Given the description of an element on the screen output the (x, y) to click on. 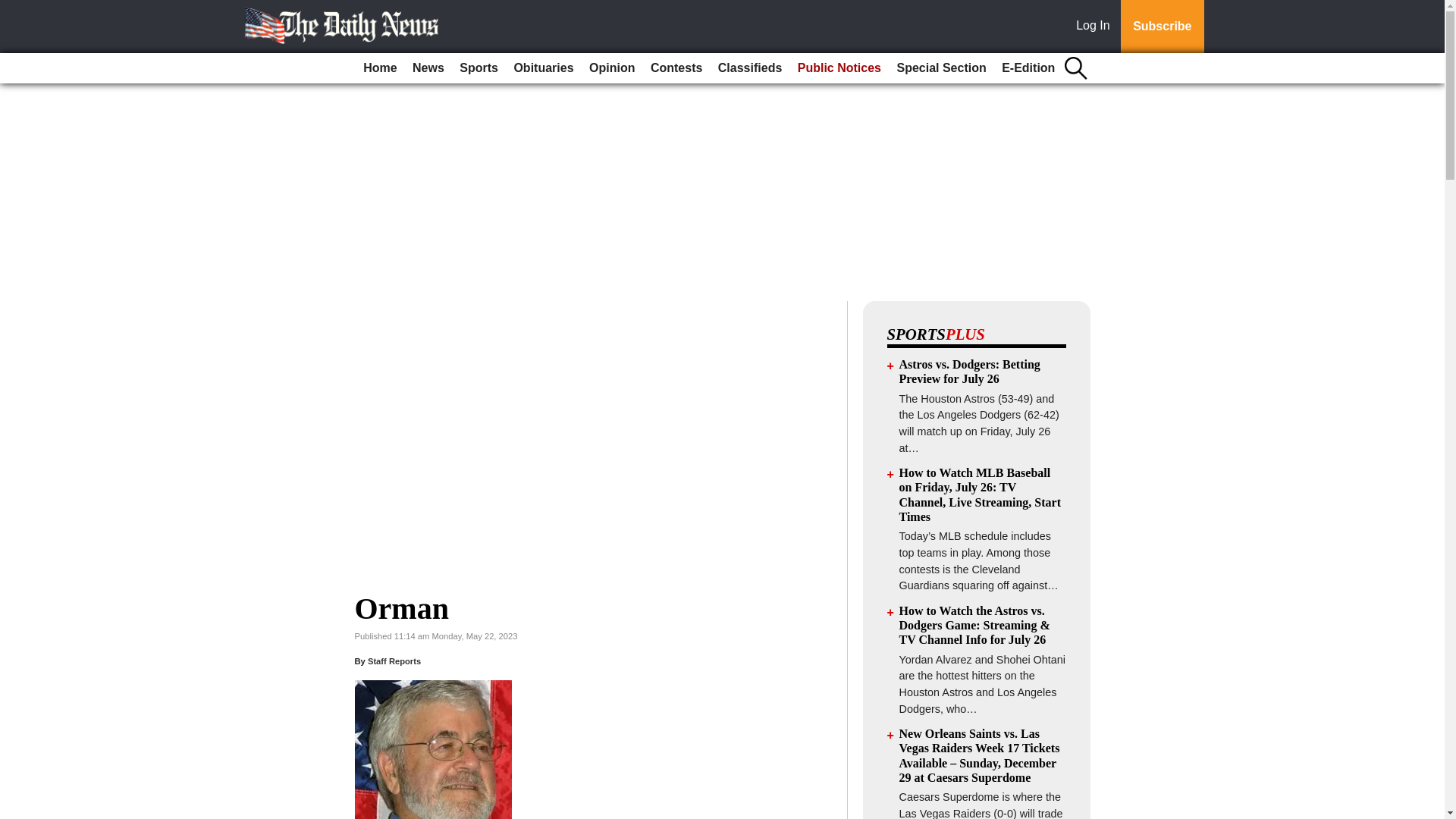
Classifieds (749, 68)
Subscribe (1162, 26)
Home (379, 68)
Go (13, 9)
Opinion (611, 68)
Public Notices (839, 68)
Staff Reports (394, 660)
E-Edition (1028, 68)
Contests (676, 68)
Log In (1095, 26)
Special Section (940, 68)
Sports (477, 68)
Astros vs. Dodgers: Betting Preview for July 26 (970, 370)
News (427, 68)
